Given the description of an element on the screen output the (x, y) to click on. 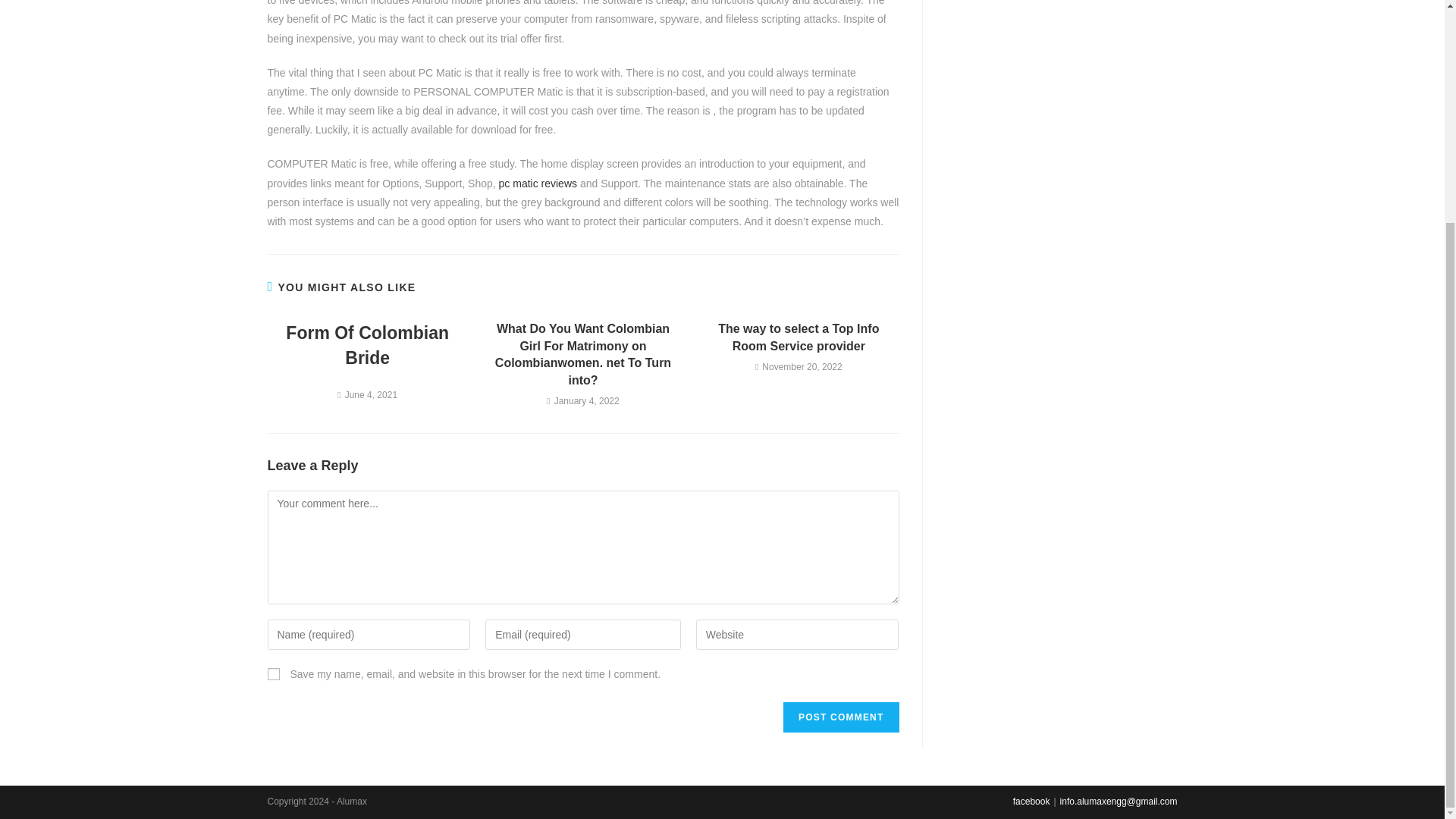
pc matic reviews (537, 183)
The way to select a Top Info Room Service provider (798, 337)
Post Comment (840, 716)
The way to select a Top Info Room Service provider (798, 337)
facebook (1031, 801)
Form Of Colombian Bride (367, 345)
Post Comment (840, 716)
Form Of Colombian Bride (367, 345)
